Given the description of an element on the screen output the (x, y) to click on. 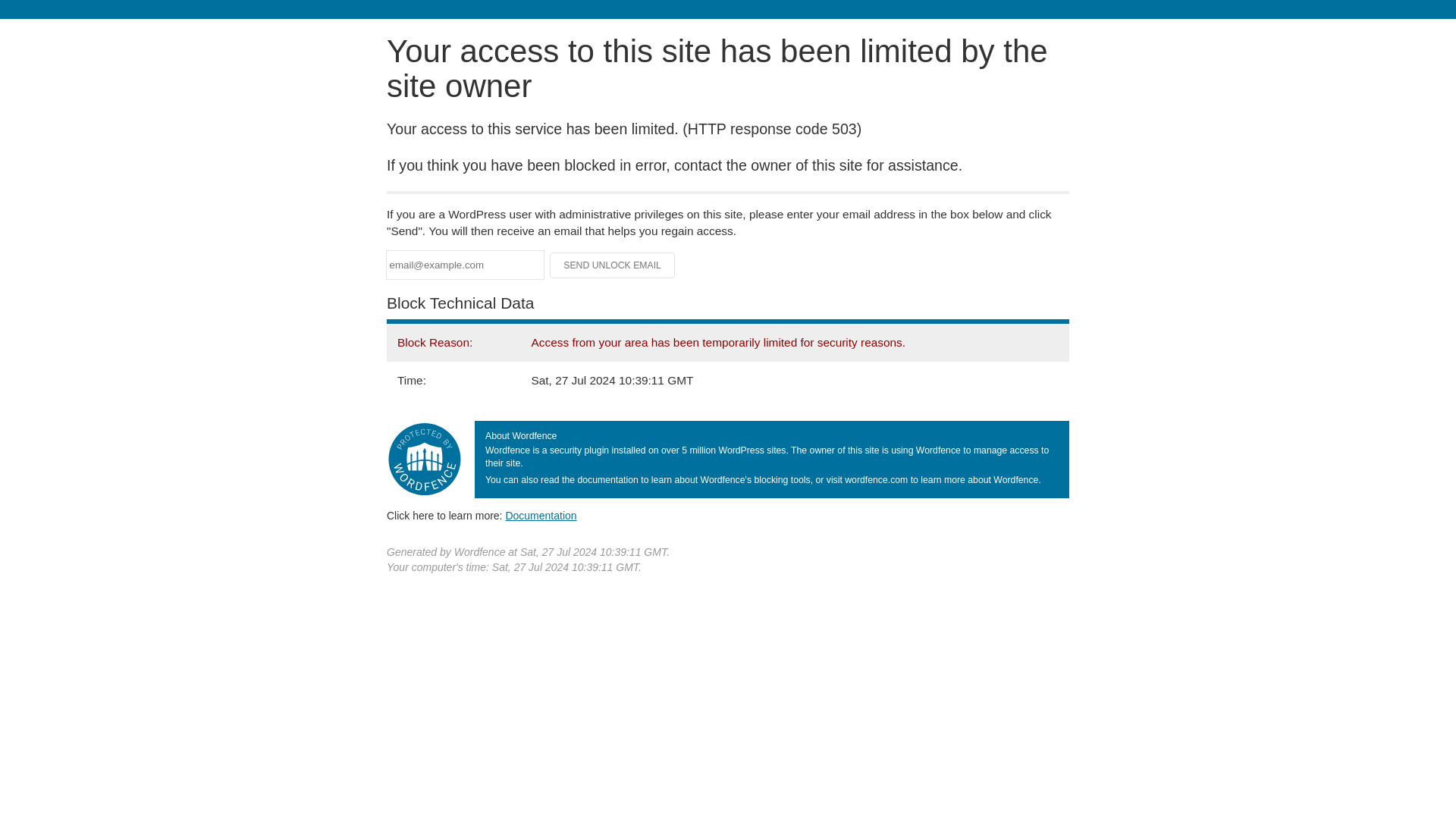
Send Unlock Email (612, 265)
Documentation (540, 515)
Send Unlock Email (612, 265)
